Given the description of an element on the screen output the (x, y) to click on. 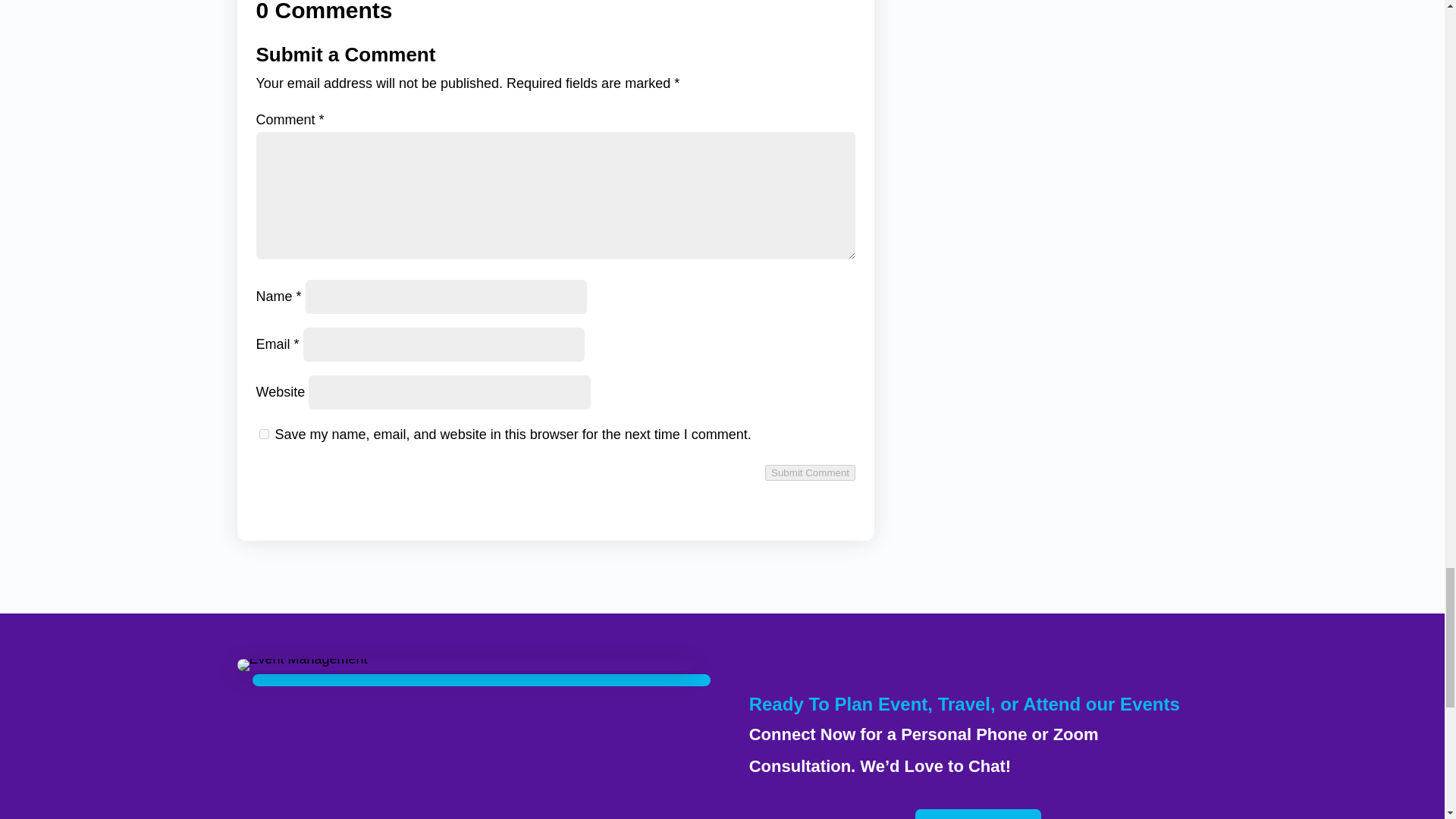
EVENT-MANAGMENT-SERVICES (300, 664)
Submit Comment (810, 472)
Contact Us (978, 814)
yes (264, 433)
